Given the description of an element on the screen output the (x, y) to click on. 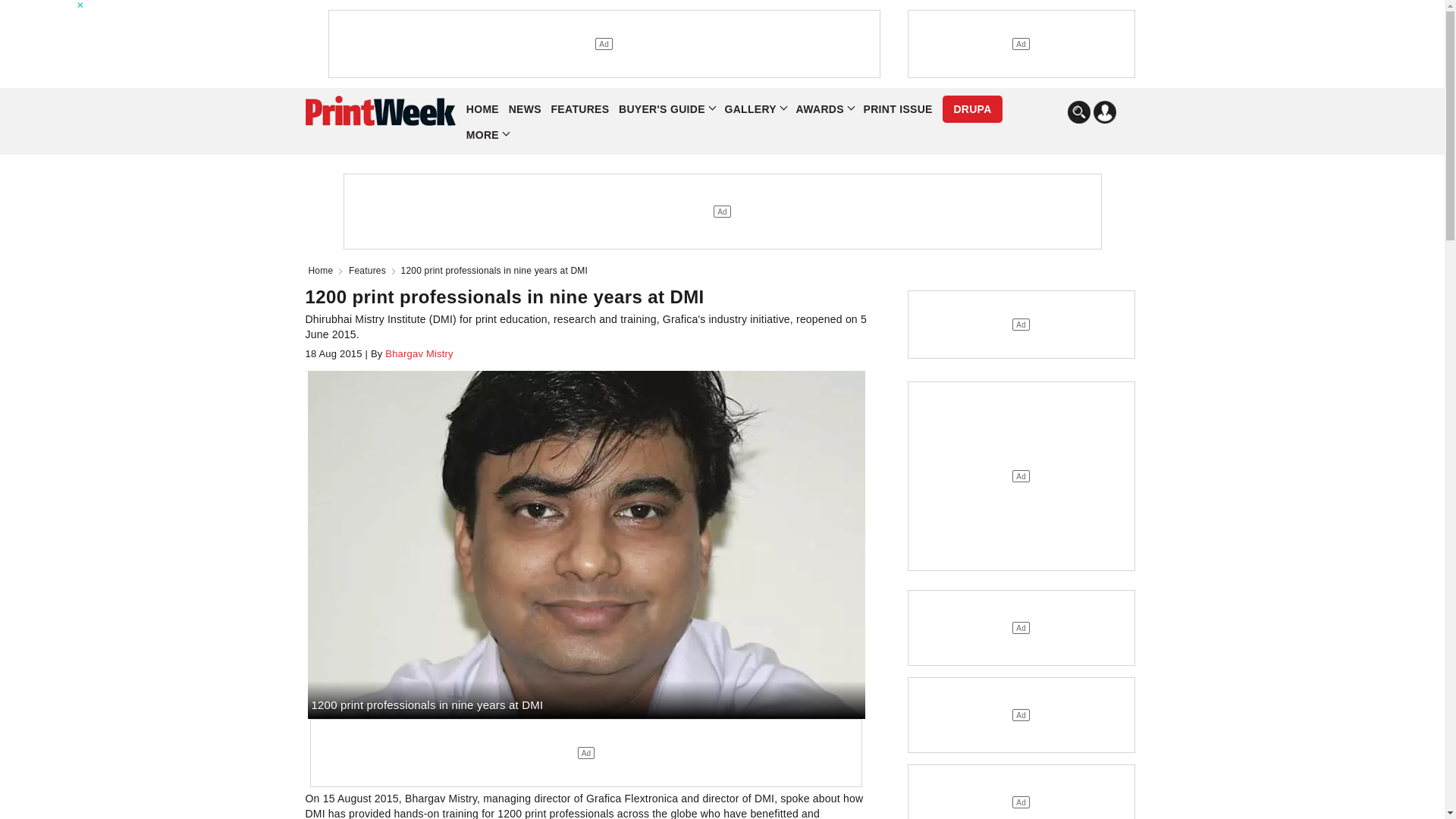
Search In PrintWeek India Website (1078, 111)
Print Issue (897, 109)
DRUPA (971, 108)
BUYER'S GUIDE (666, 109)
MORE (487, 134)
Home (323, 270)
PRINT ISSUE (897, 109)
FEATURES (580, 109)
NEWS (524, 109)
Buyer's Guide (666, 109)
